Given the description of an element on the screen output the (x, y) to click on. 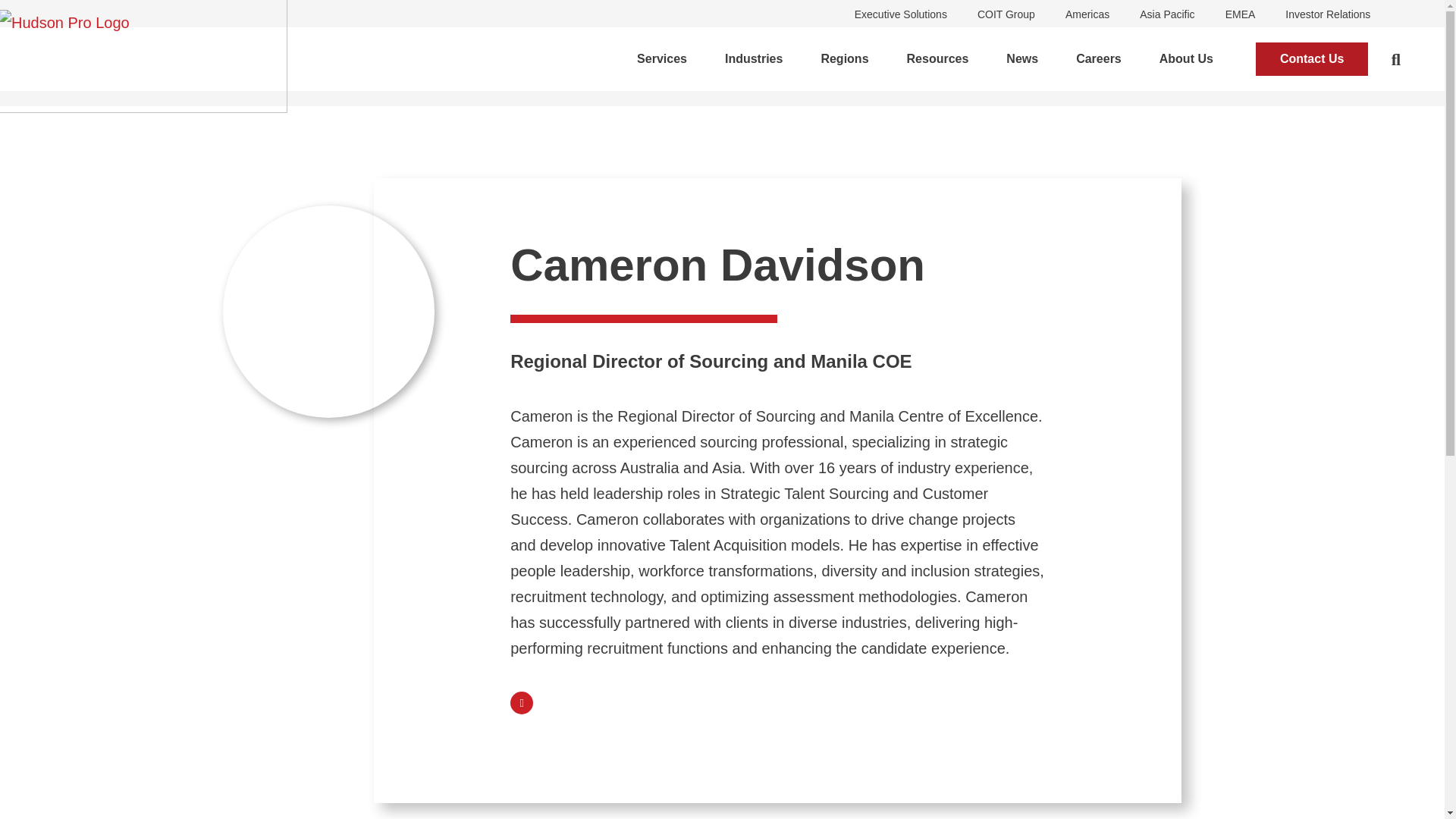
Investor Relations (1327, 14)
EMEA (1240, 14)
Industries (754, 58)
Americas (1087, 14)
Asia Pacific (1166, 14)
Services (661, 58)
Executive Solutions (900, 14)
Regions (844, 58)
COIT Group (1005, 14)
